Given the description of an element on the screen output the (x, y) to click on. 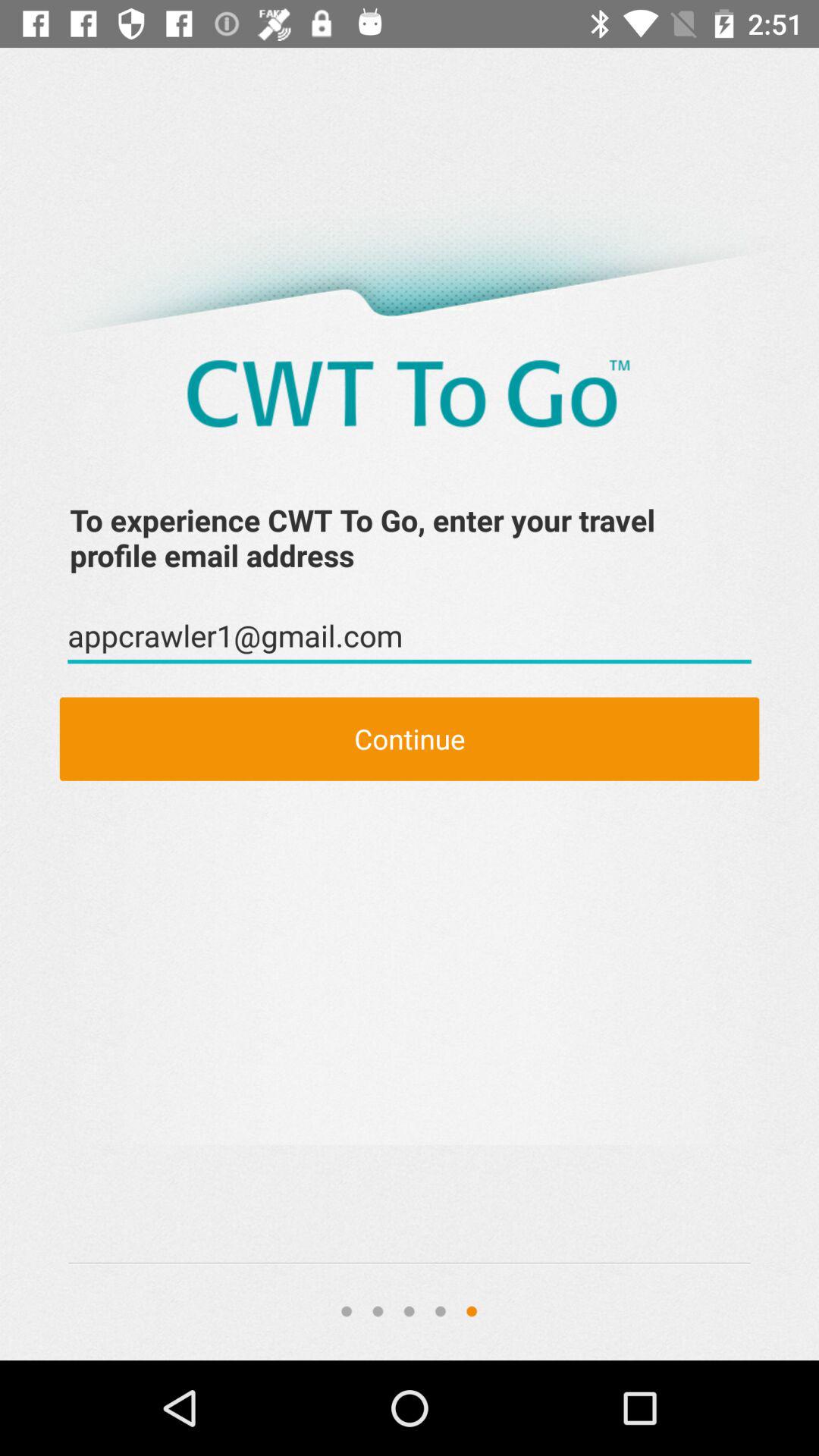
swipe until the appcrawler1@gmail.com (409, 636)
